Given the description of an element on the screen output the (x, y) to click on. 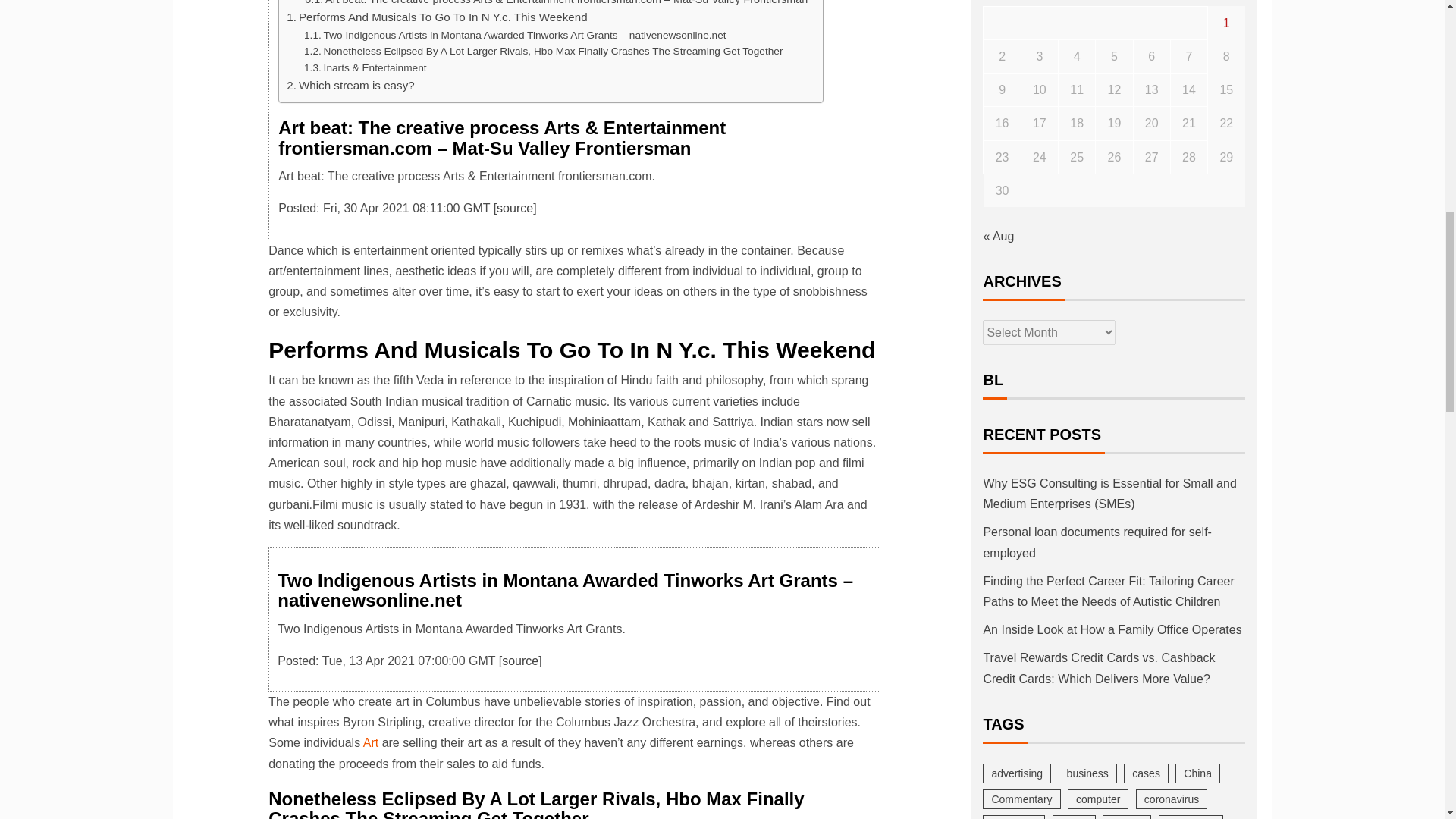
source (520, 660)
Which stream is easy? (349, 85)
Which stream is easy? (349, 85)
Art (370, 742)
Performs And Musicals To Go To In N Y.c. This Weekend (436, 17)
source (514, 207)
Performs And Musicals To Go To In N Y.c. This Weekend (436, 17)
